Given the description of an element on the screen output the (x, y) to click on. 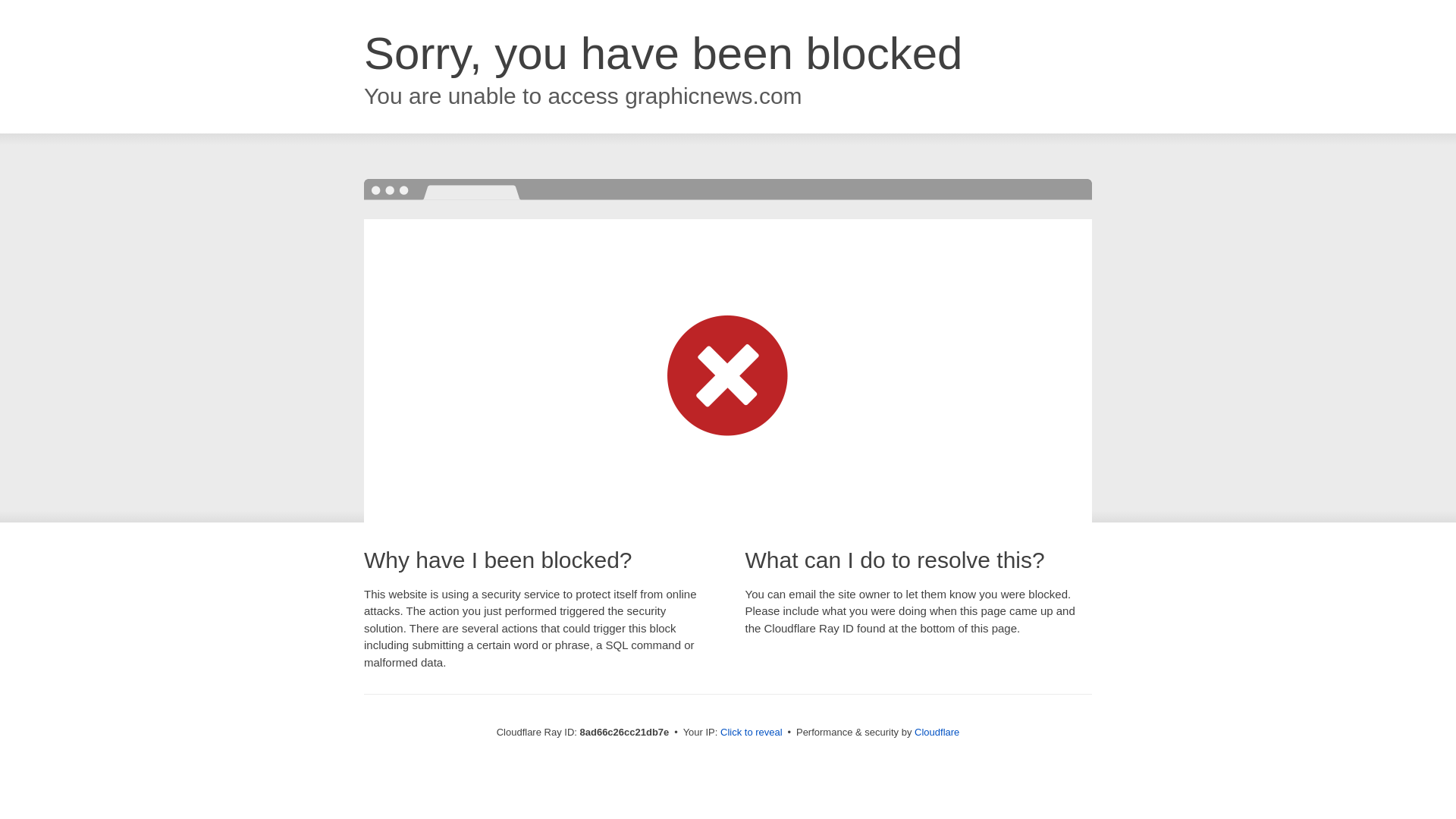
Click to reveal (751, 732)
Cloudflare (936, 731)
